Given the description of an element on the screen output the (x, y) to click on. 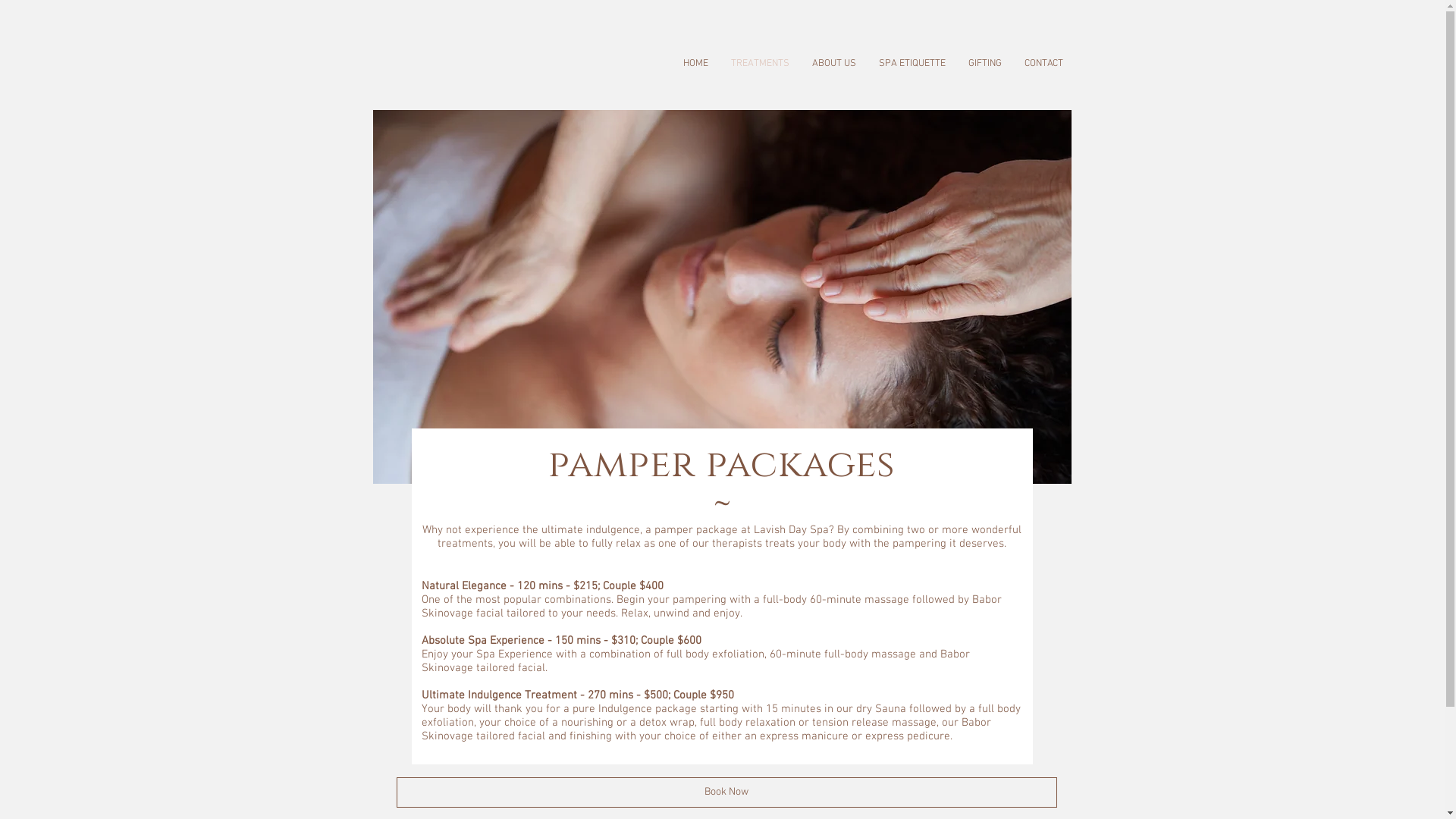
HOME Element type: text (695, 63)
TREATMENTS Element type: text (759, 63)
Book Now Element type: text (725, 792)
ABOUT US Element type: text (833, 63)
SPA ETIQUETTE Element type: text (912, 63)
CONTACT Element type: text (1043, 63)
GIFTING Element type: text (985, 63)
